Given the description of an element on the screen output the (x, y) to click on. 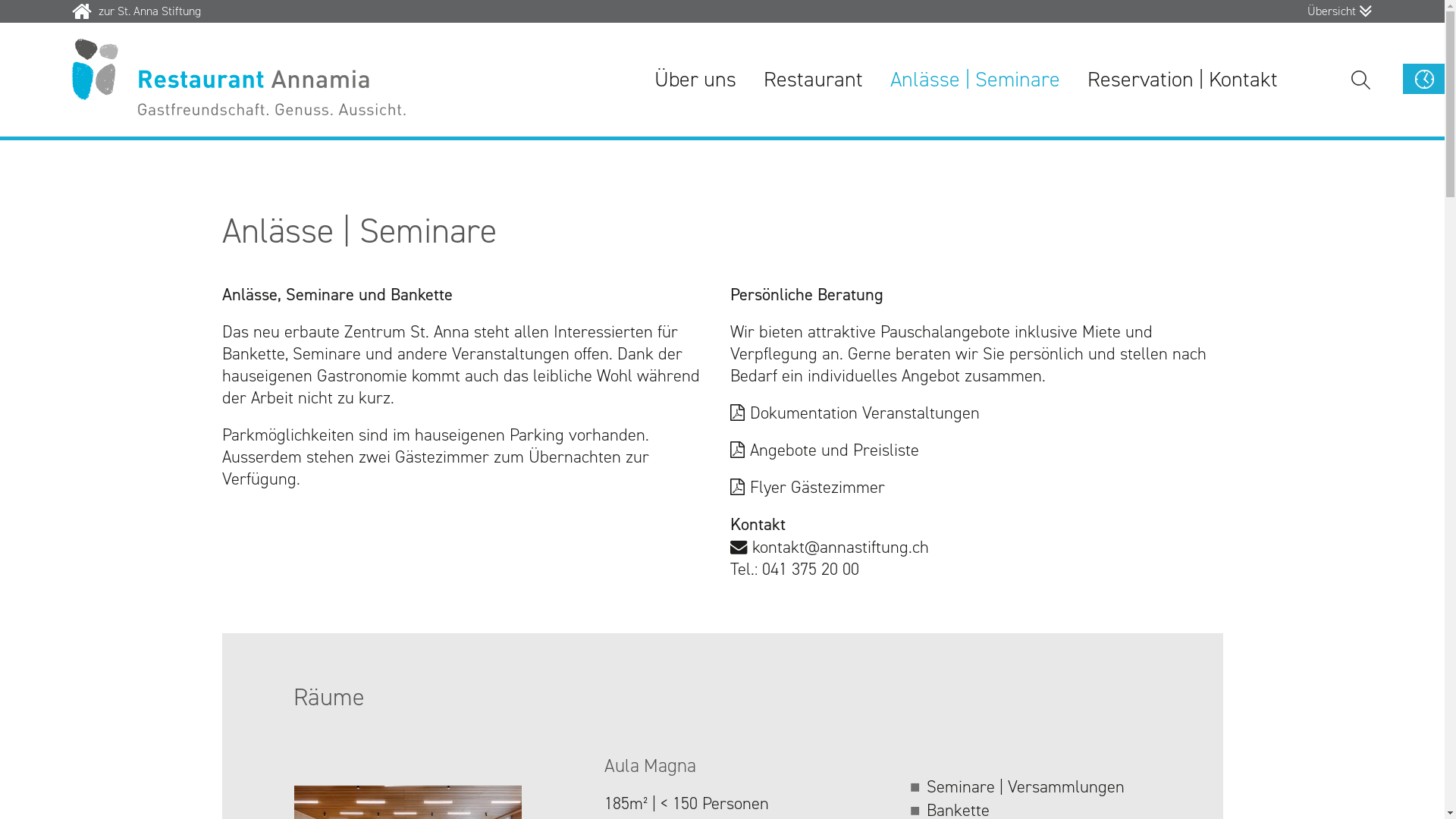
Angebote und Preisliste Element type: text (823, 449)
zur St. Anna Stiftung Element type: text (136, 10)
Reservation | Kontakt Element type: text (1182, 79)
kontakt@annastiftung.ch Element type: text (828, 546)
  Element type: text (296, 755)
Dokumentation Veranstaltungen Element type: text (854, 412)
Restaurant Element type: text (812, 79)
